Given the description of an element on the screen output the (x, y) to click on. 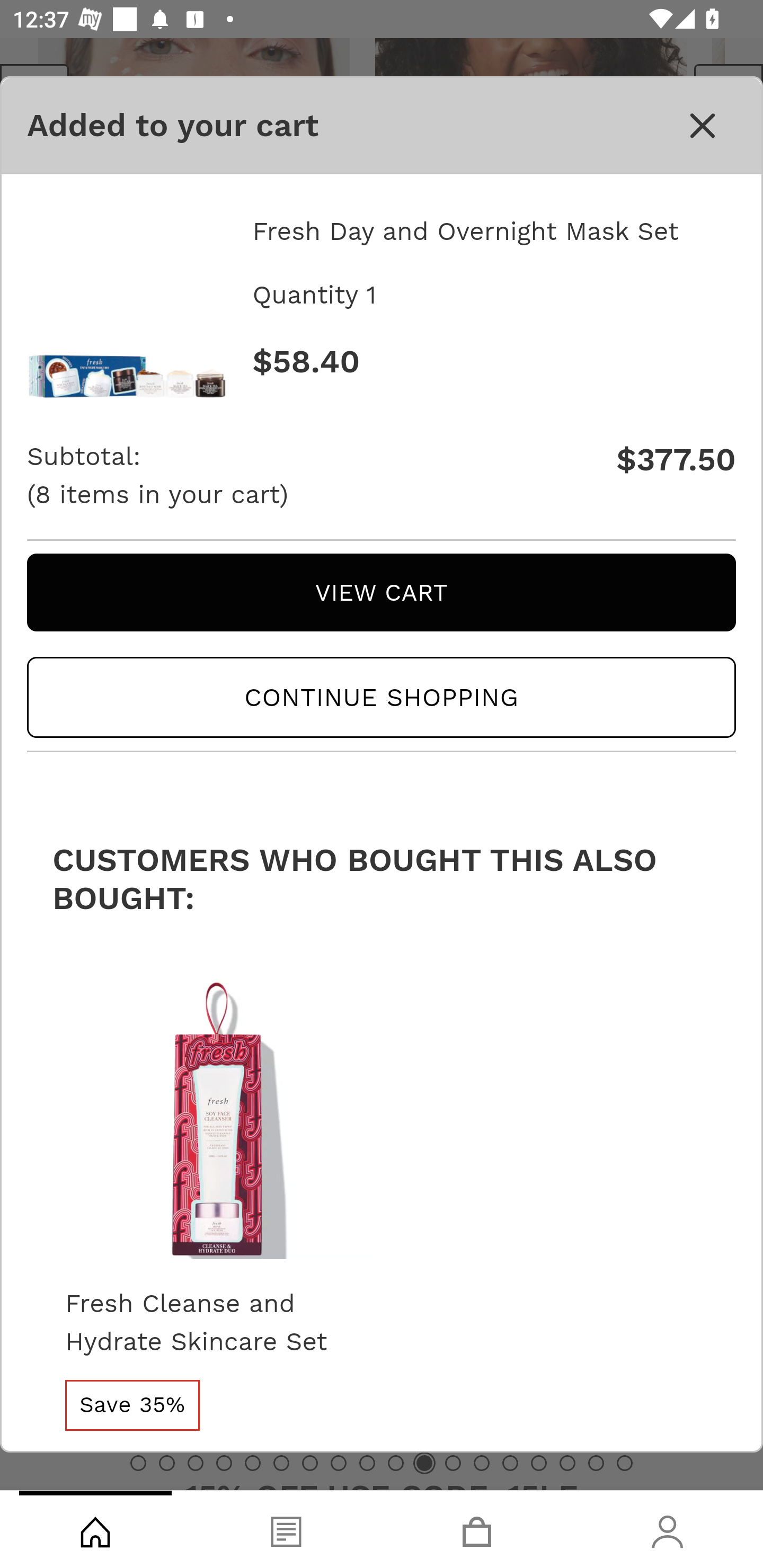
Close (702, 124)
Fresh Day and Overnight Mask Set (126, 299)
Fresh Day and Overnight Mask Set (493, 231)
VIEW CART (381, 592)
CONTINUE SHOPPING (381, 697)
Fresh Cleanse and Hydrate Skincare Set (216, 1113)
Fresh Cleanse and Hydrate Skincare Set (216, 1323)
Save 35% (131, 1405)
Slide 1 (138, 1462)
Slide 2 (166, 1462)
Slide 3 (195, 1462)
Slide 4 (223, 1462)
Slide 5 (252, 1462)
Slide 6 (281, 1462)
Slide 7 (310, 1462)
Slide 8 (338, 1462)
Slide 9 (367, 1462)
Slide 10 (395, 1462)
Showing Slide 11 (Current Item) (424, 1462)
Slide 12 (452, 1462)
Slide 13 (481, 1462)
Slide 14 (510, 1462)
Slide 15 (539, 1462)
Slide 16 (567, 1462)
Slide 17 (596, 1462)
Slide 18 (624, 1462)
Shop, tab, 1 of 4 (95, 1529)
Blog, tab, 2 of 4 (285, 1529)
Basket, tab, 3 of 4 (476, 1529)
Account, tab, 4 of 4 (667, 1529)
